Given the description of an element on the screen output the (x, y) to click on. 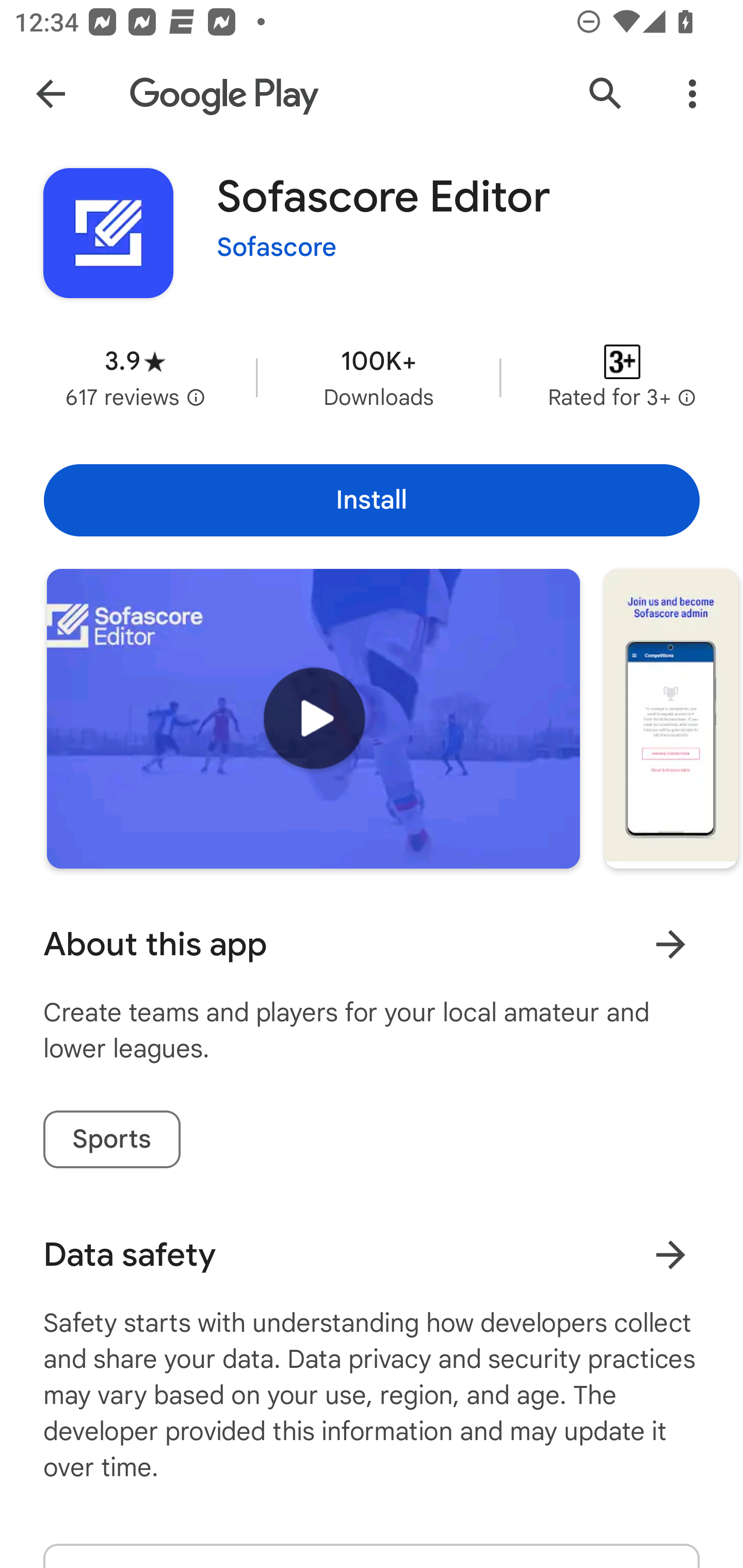
Navigate up (50, 93)
Search Google Play (605, 93)
More Options (692, 93)
Sofascore (276, 247)
Average rating 3.9 stars in 617 reviews (135, 377)
Content rating Rated for 3+ (622, 377)
Install (371, 500)
Play trailer for "Sofascore Editor" (313, 718)
Screenshot "1" of "7" (670, 718)
About this app Learn more About this app (371, 944)
Learn more About this app (670, 944)
Sports tag (111, 1139)
Data safety Learn more about data safety (371, 1255)
Learn more about data safety (670, 1255)
